Given the description of an element on the screen output the (x, y) to click on. 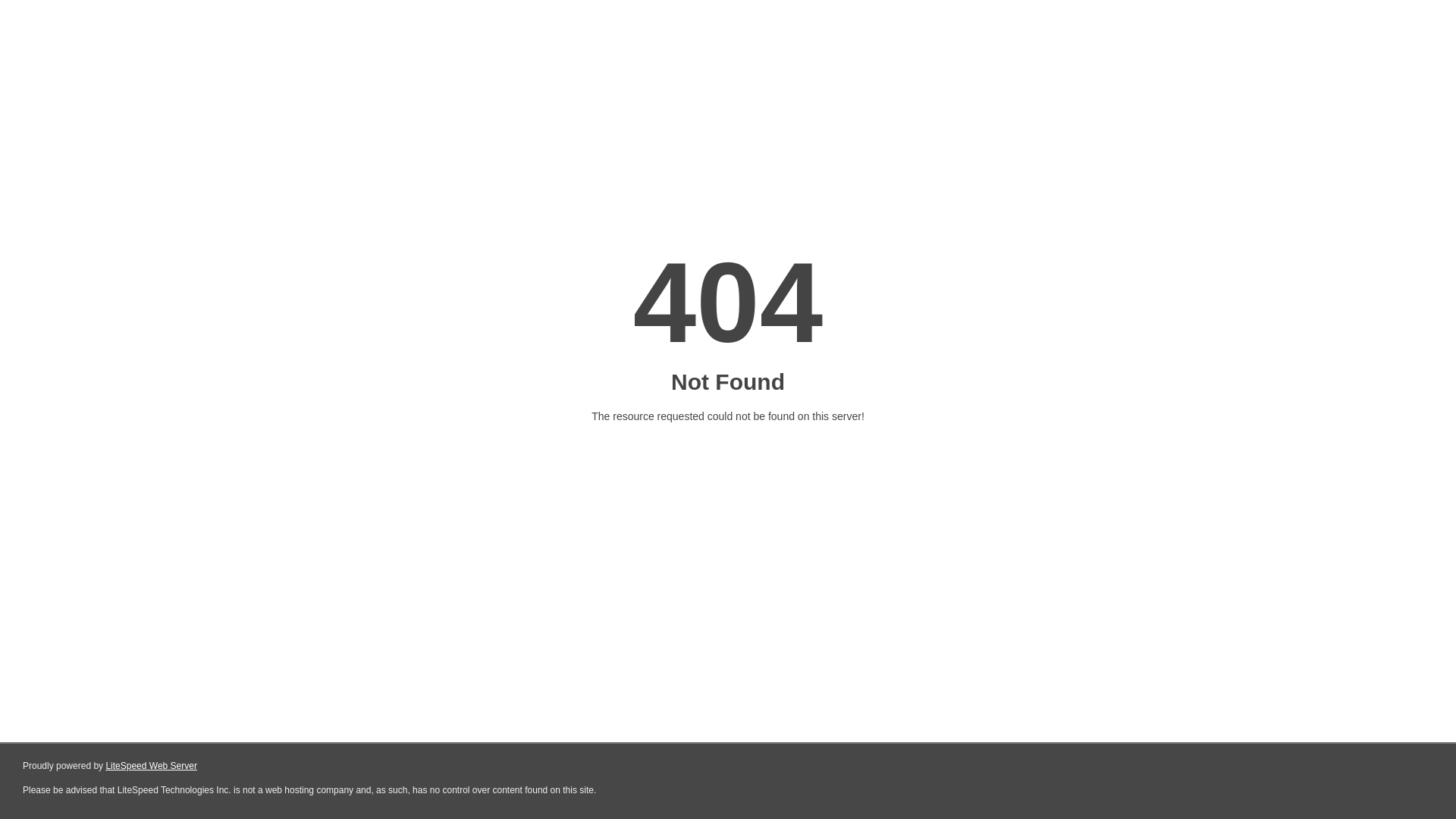
LiteSpeed Web Server Element type: text (151, 765)
